Given the description of an element on the screen output the (x, y) to click on. 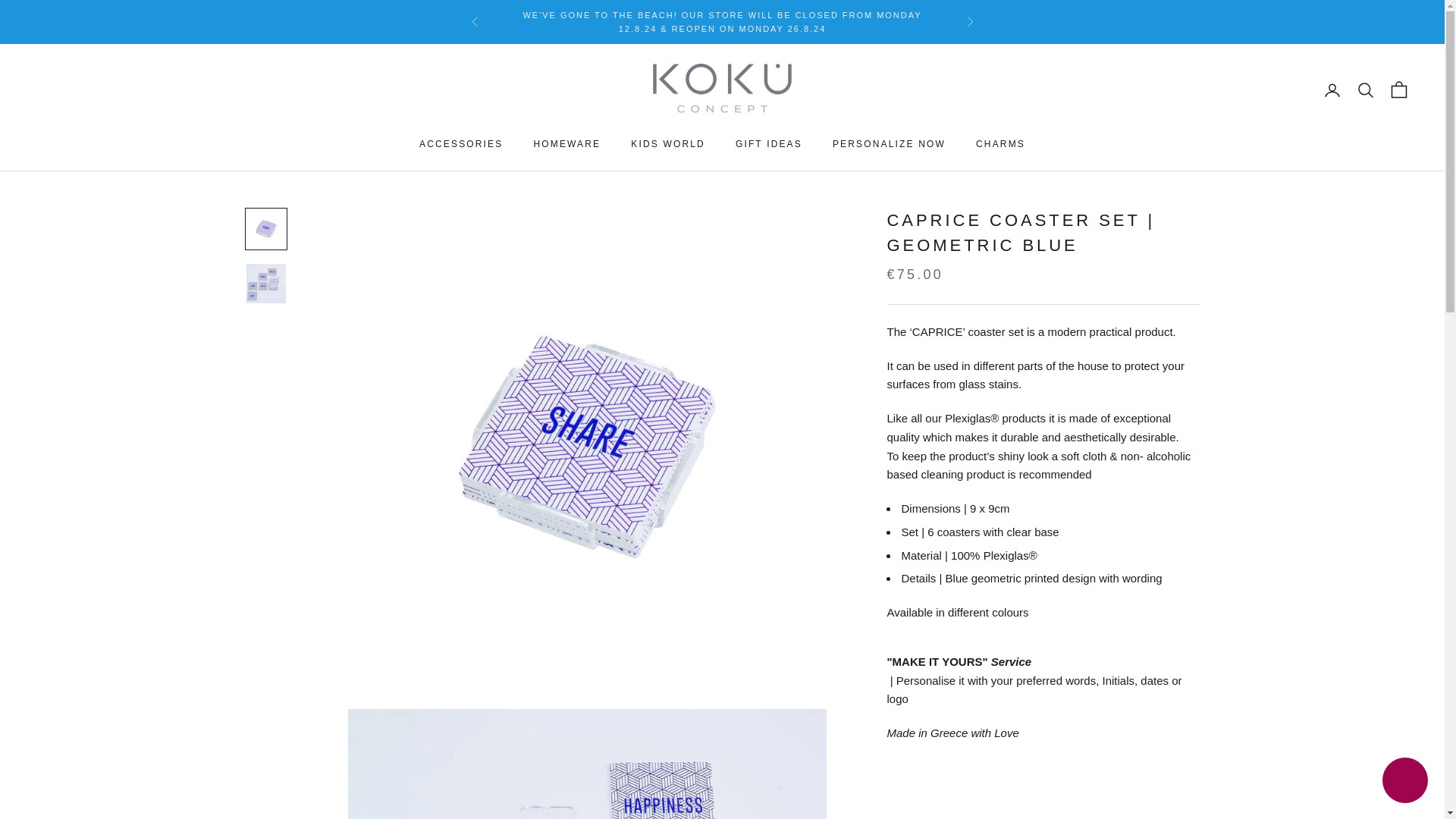
Open search (1365, 90)
PERSONALIZE NOW (888, 143)
Open account page (1331, 90)
Shopify online store chat (1404, 781)
KIDS WORLD (667, 143)
CHARMS (1000, 143)
KOKU Concept (722, 90)
